Given the description of an element on the screen output the (x, y) to click on. 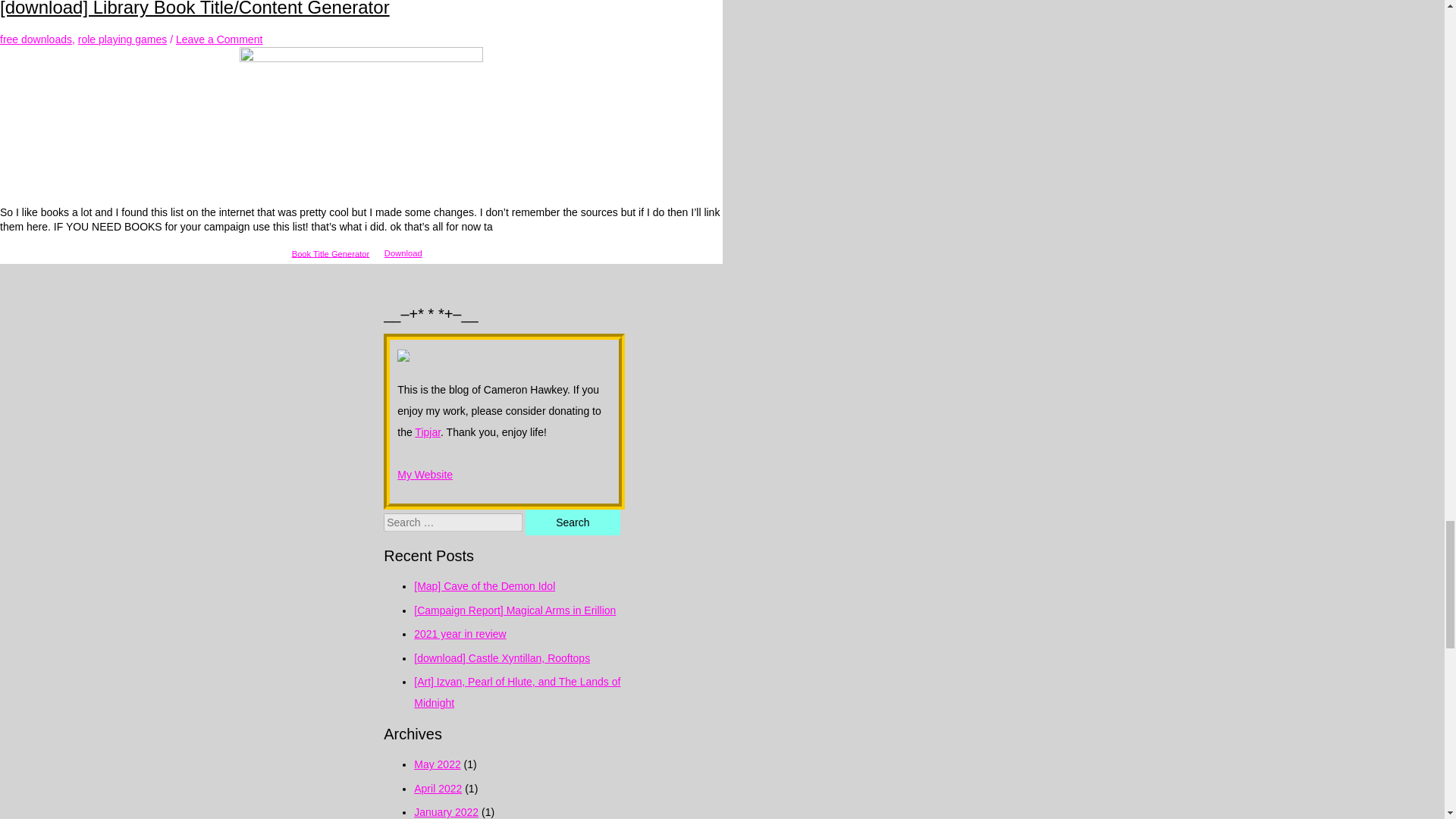
Tipjar (427, 431)
role playing games (122, 39)
Search (572, 522)
Leave a Comment (219, 39)
Download (402, 253)
Search (572, 522)
Book Title Generator (330, 252)
free downloads (35, 39)
